Given the description of an element on the screen output the (x, y) to click on. 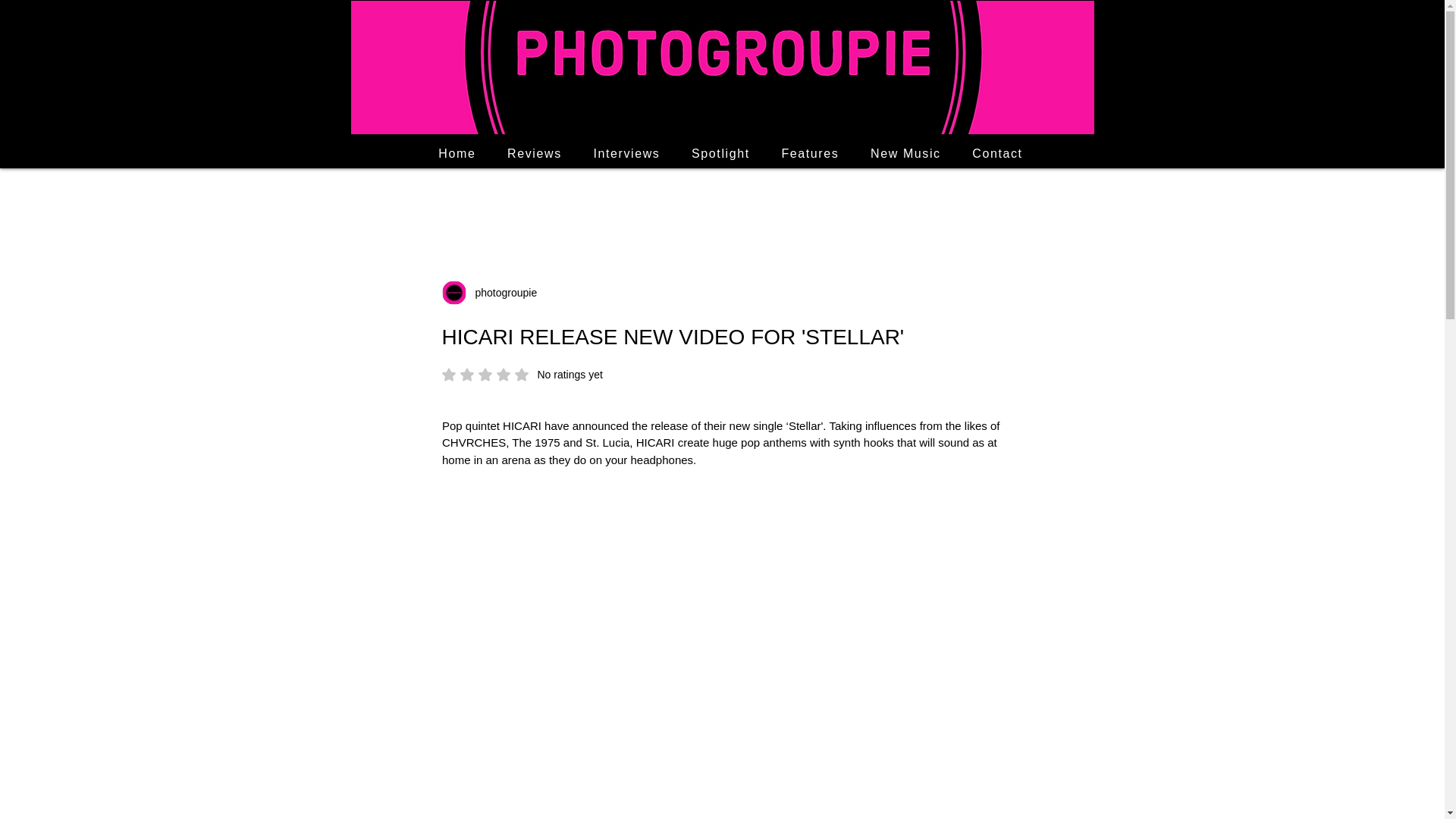
Home (457, 153)
Spotlight (521, 374)
New Music (719, 153)
Features (905, 153)
Interviews (809, 153)
Contact (626, 153)
photogroupie (997, 153)
